Given the description of an element on the screen output the (x, y) to click on. 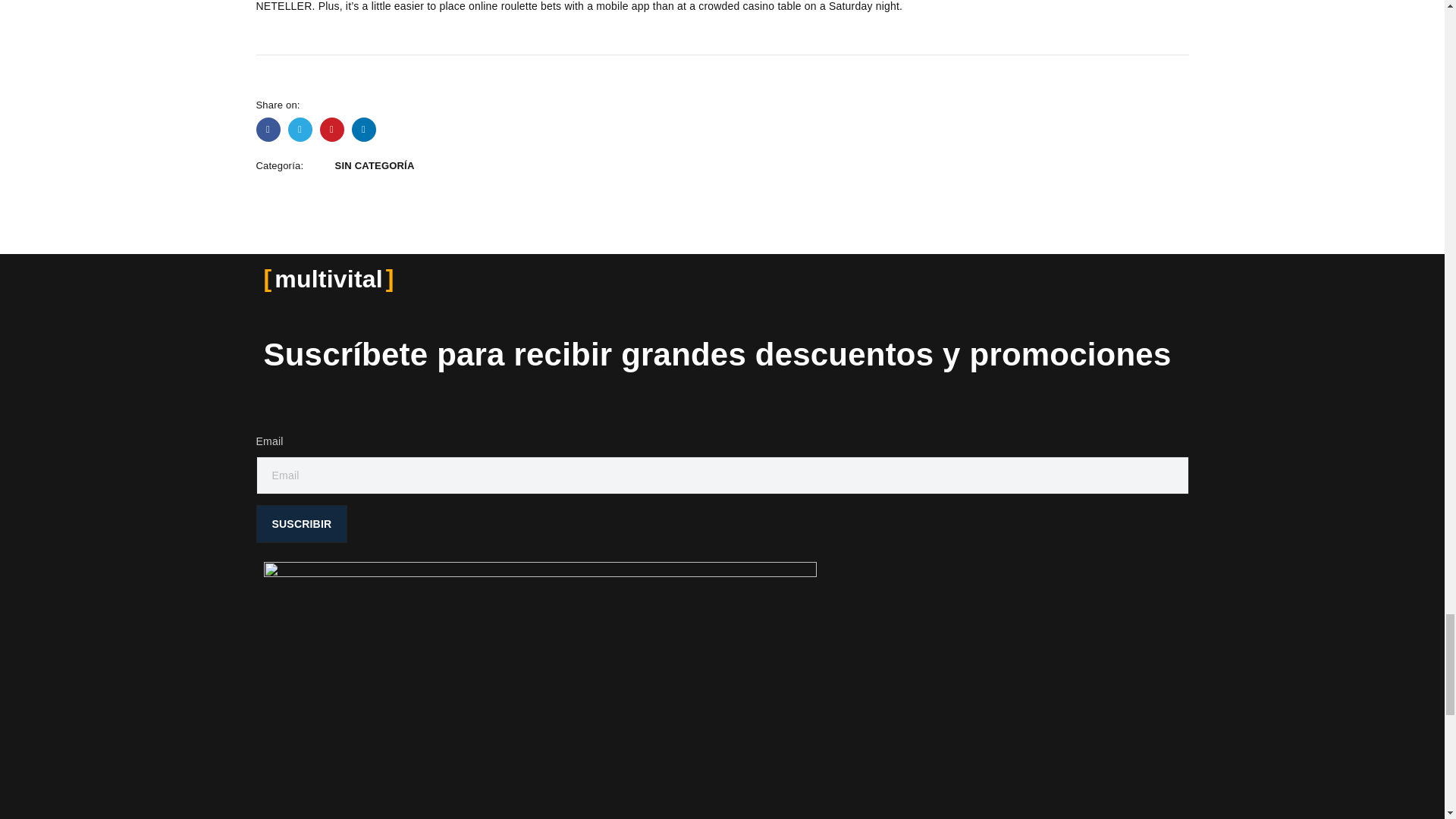
SUSCRIBIR (301, 523)
